Given the description of an element on the screen output the (x, y) to click on. 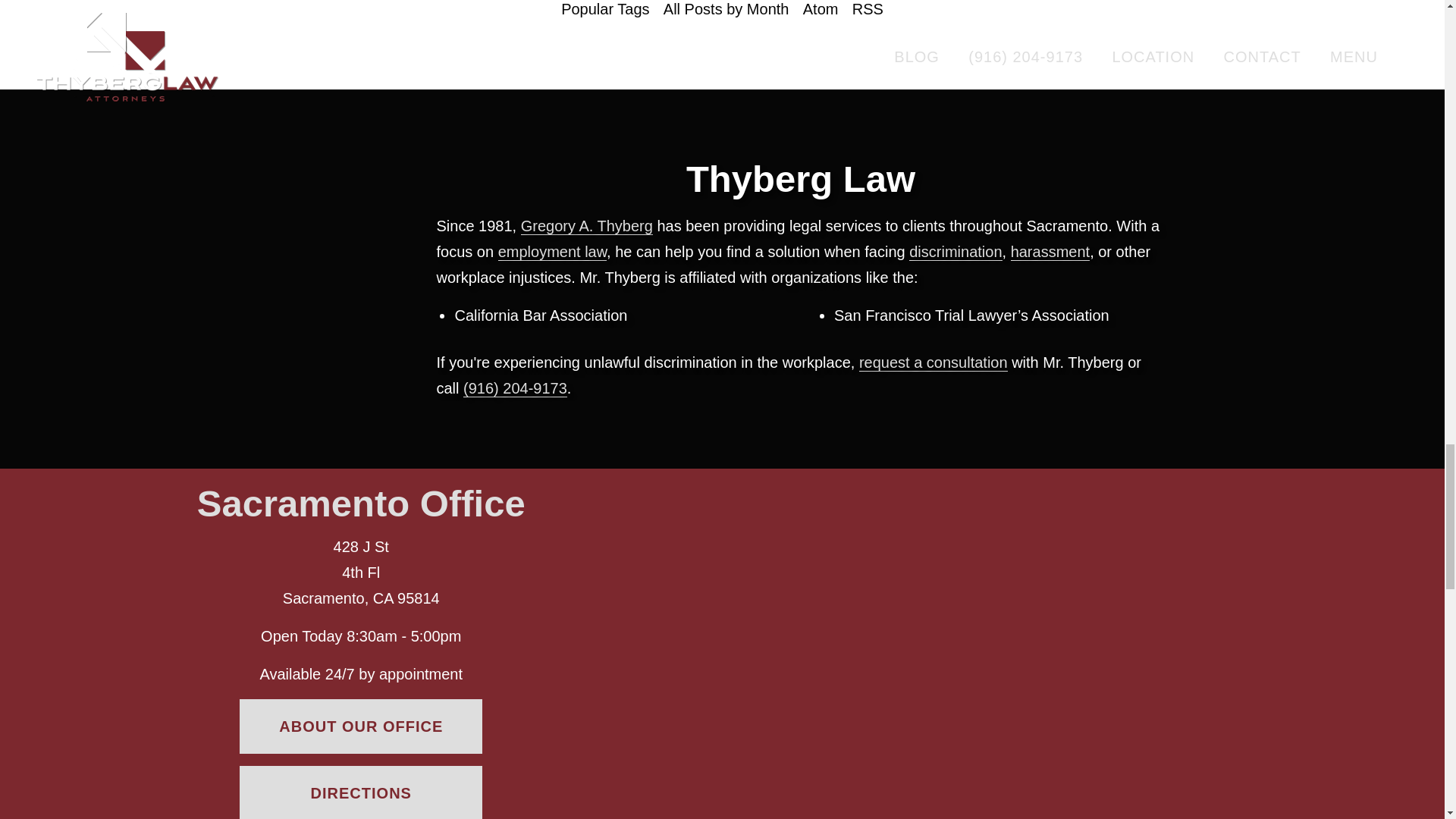
DIRECTIONS (360, 792)
RSS (867, 9)
Popular Tags (605, 9)
discrimination (954, 252)
ABOUT OUR OFFICE (360, 726)
Gregory A. Thyberg (586, 226)
Sacramento Office (360, 503)
harassment (1050, 252)
request a consultation (933, 362)
Atom (820, 9)
